Given the description of an element on the screen output the (x, y) to click on. 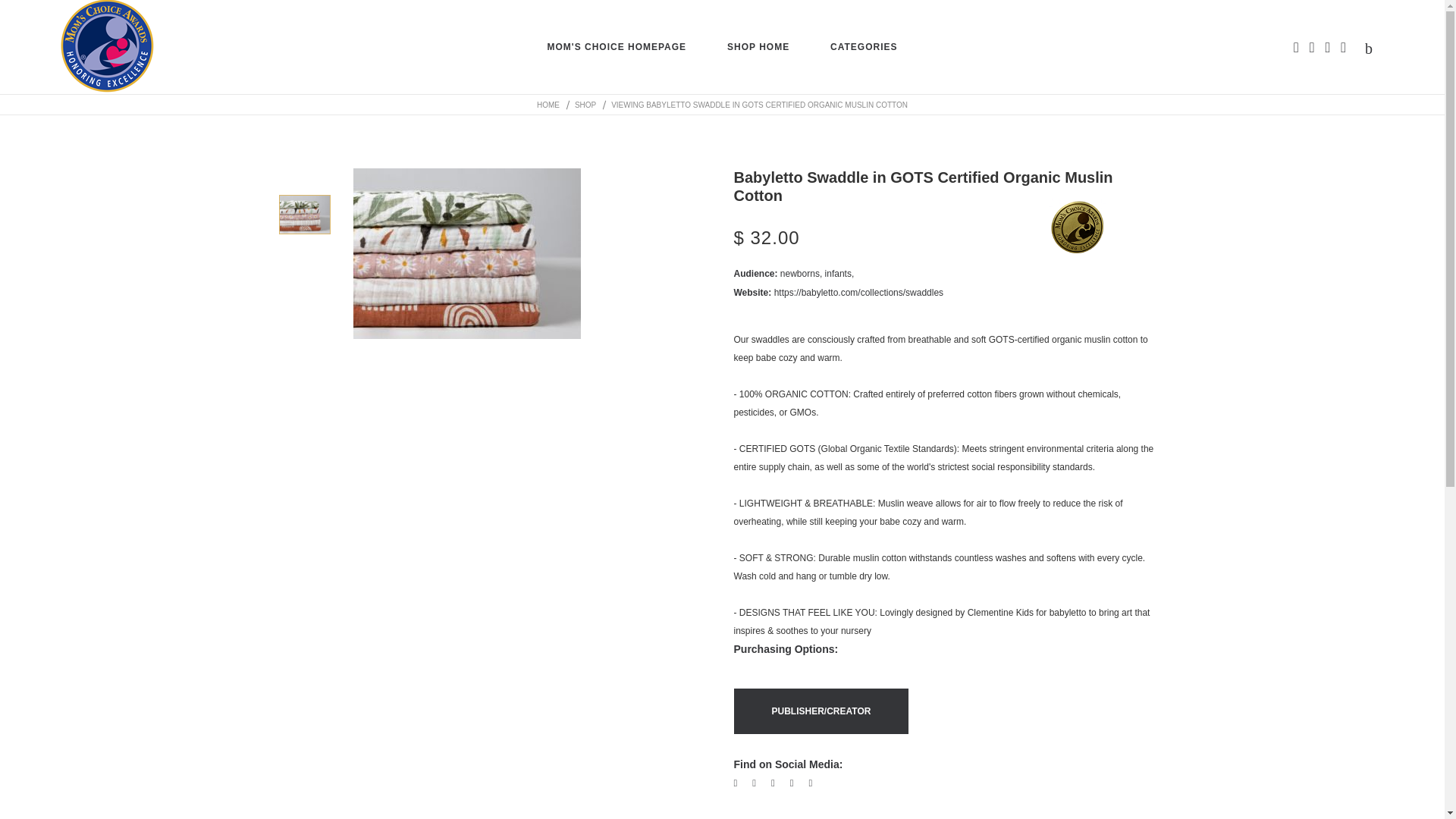
MOM'S CHOICE HOMEPAGE (615, 46)
CATEGORIES (862, 46)
MCA Gold Award (1076, 227)
SHOP HOME (757, 46)
